Given the description of an element on the screen output the (x, y) to click on. 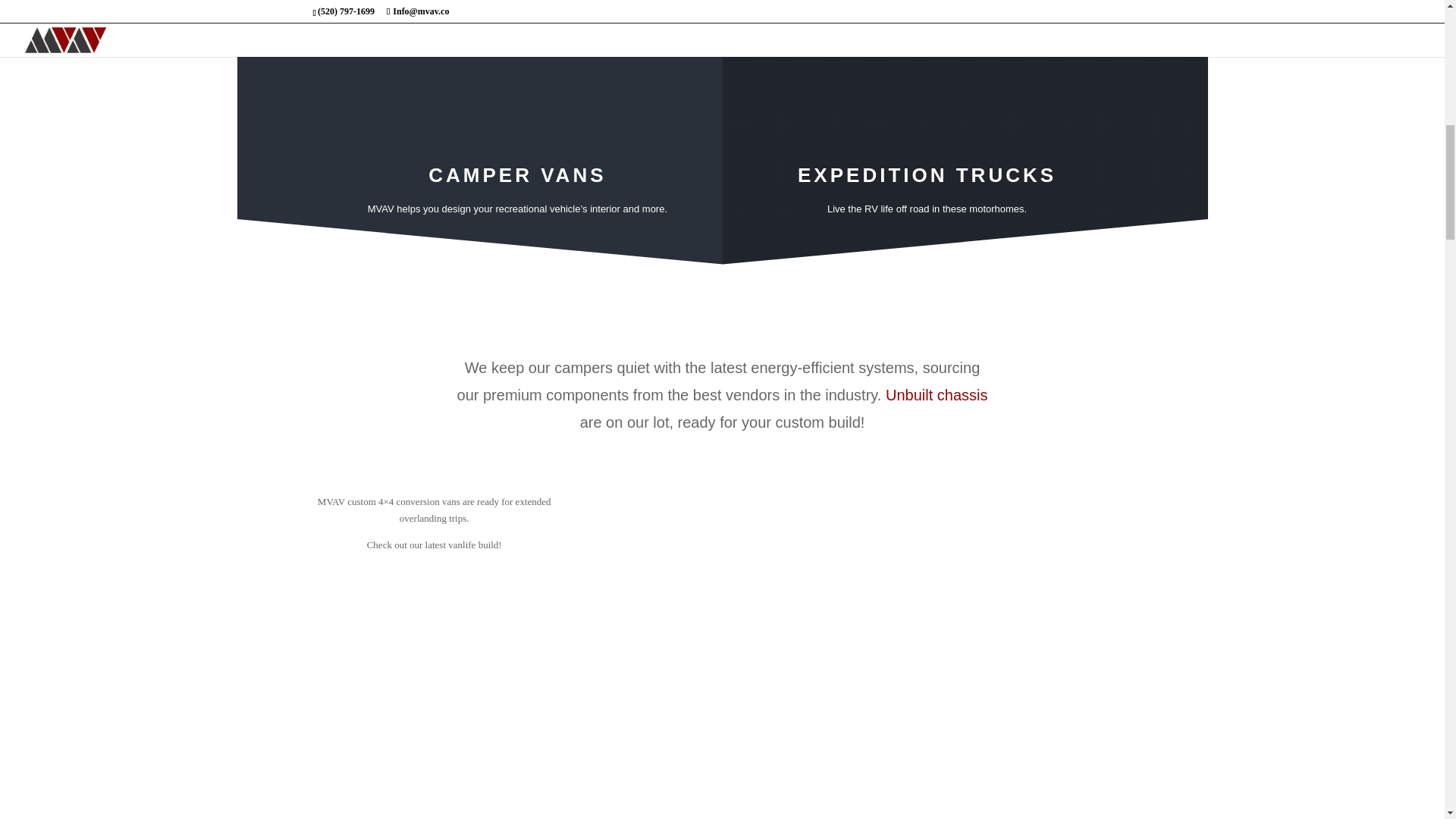
EXPEDITION TRUCKS (927, 174)
CAMPER VANS (516, 174)
Van Chassis (936, 394)
Unbuilt chassis (936, 394)
